Given the description of an element on the screen output the (x, y) to click on. 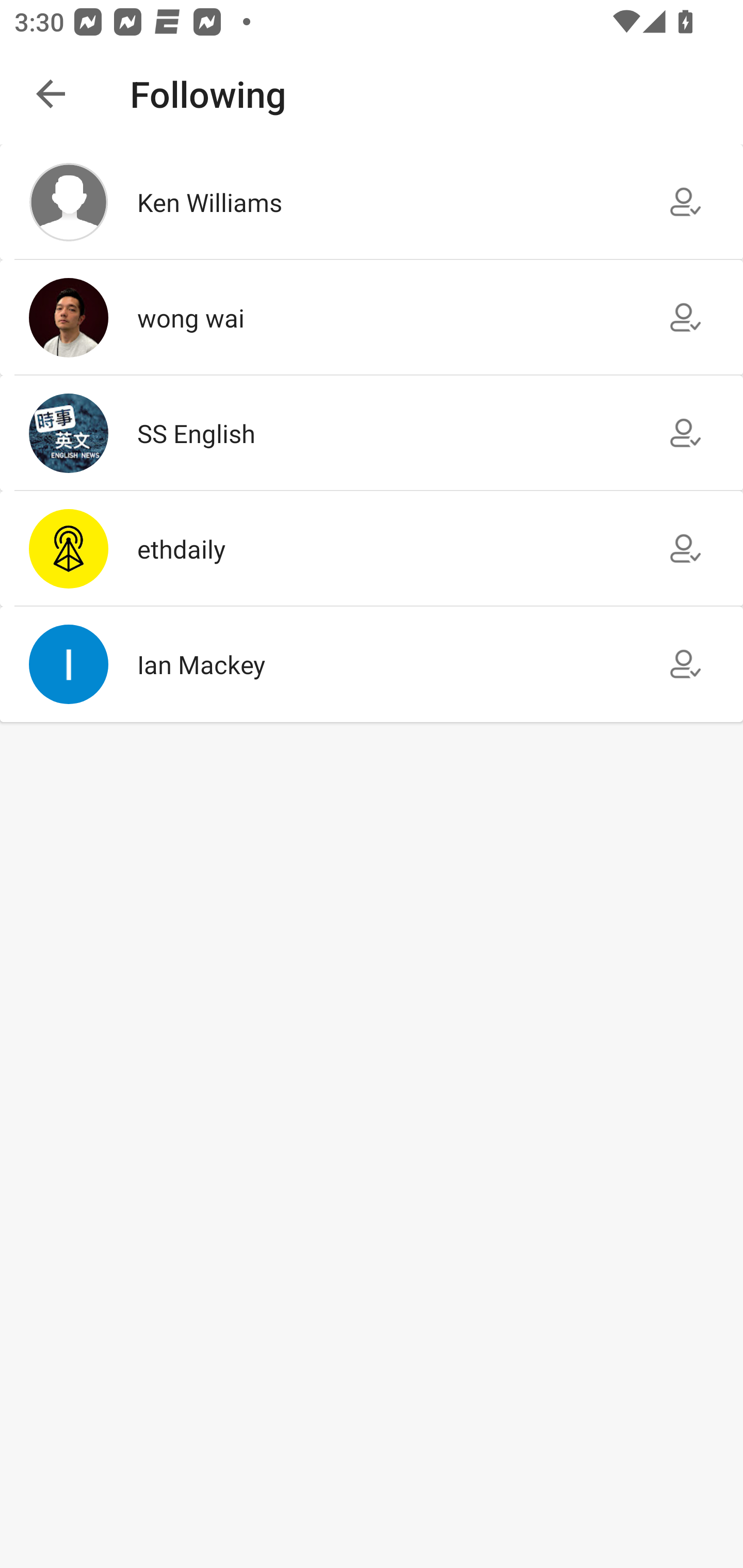
Navigate up (50, 93)
Ken Williams (371, 202)
wong wai (371, 317)
SS English (371, 432)
ethdaily (371, 548)
Ian Mackey (371, 664)
